Given the description of an element on the screen output the (x, y) to click on. 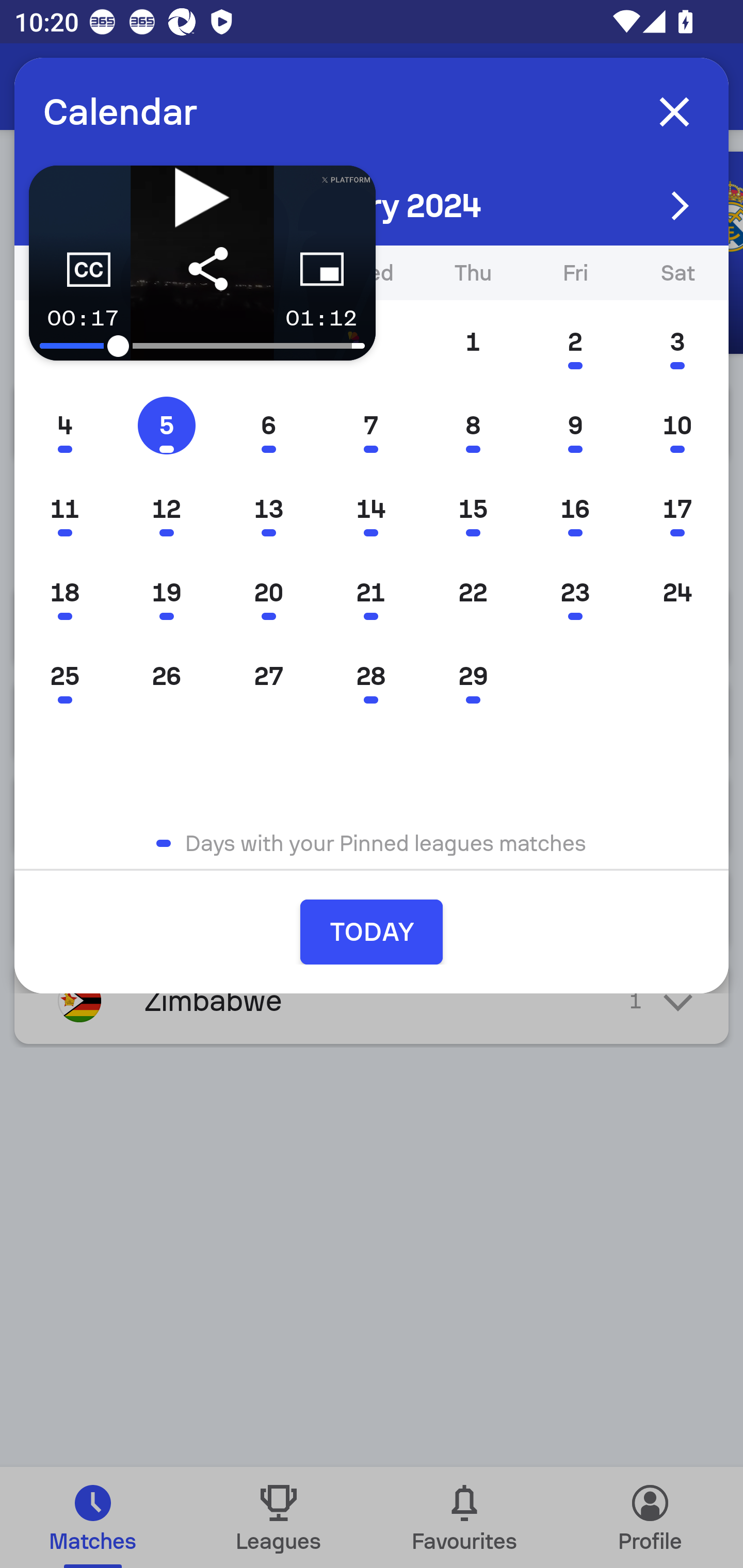
1 (473, 341)
2 (575, 341)
3 (677, 341)
4 (64, 425)
5 (166, 425)
6 (268, 425)
7 (371, 425)
8 (473, 425)
9 (575, 425)
10 (677, 425)
11 (64, 508)
12 (166, 508)
13 (268, 508)
14 (371, 508)
15 (473, 508)
16 (575, 508)
17 (677, 508)
18 (64, 592)
19 (166, 592)
20 (268, 592)
21 (371, 592)
22 (473, 592)
23 (575, 592)
24 (677, 592)
25 (64, 676)
26 (166, 676)
27 (268, 676)
28 (371, 676)
29 (473, 676)
TODAY (371, 932)
